Given the description of an element on the screen output the (x, y) to click on. 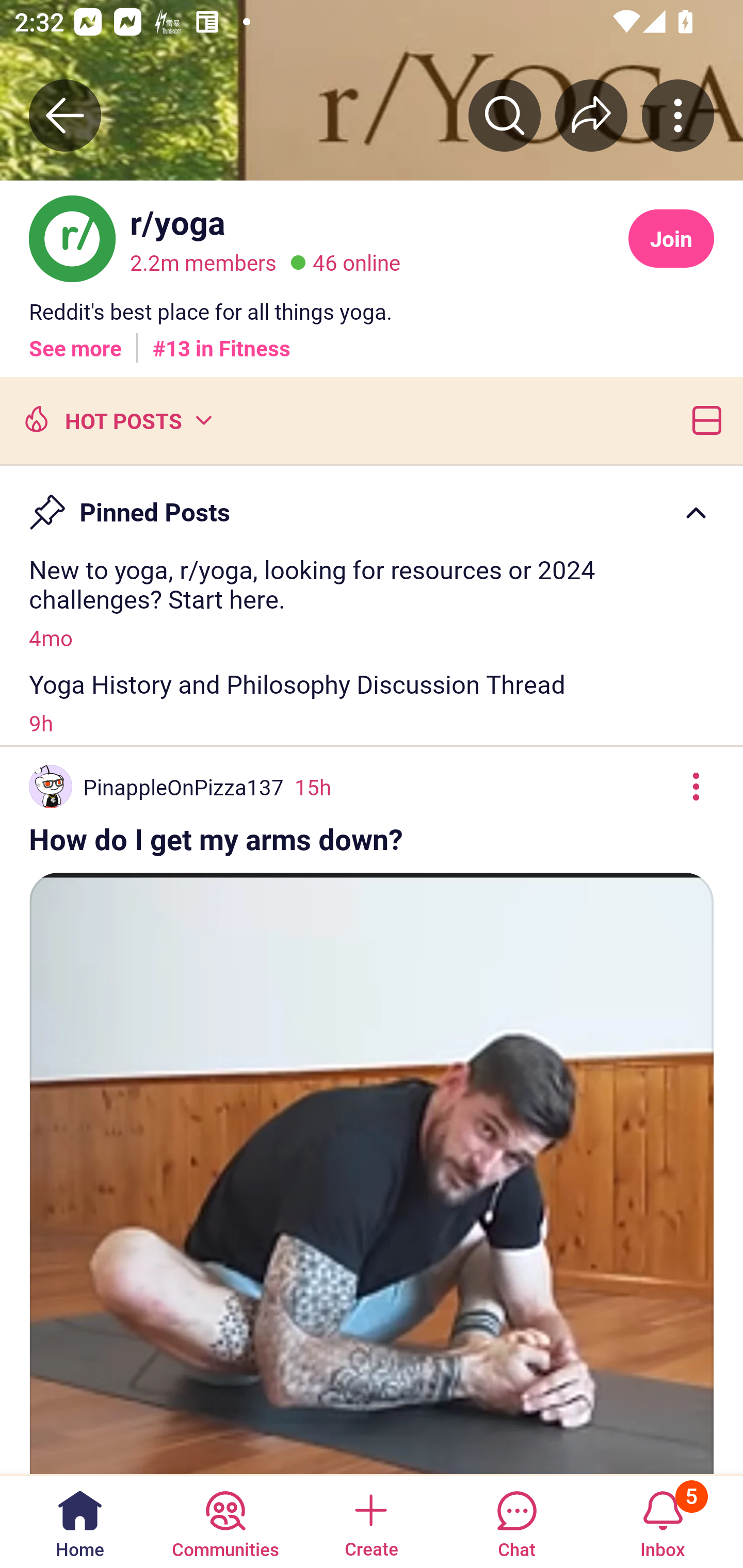
Back (64, 115)
Search r/﻿yoga (504, 115)
Share r/﻿yoga (591, 115)
More community actions (677, 115)
Hot posts HOT POSTS (116, 419)
Card (703, 419)
Pin Pinned Posts Caret (371, 503)
Yoga History and Philosophy Discussion Thread 9h (371, 702)
Home (80, 1520)
Communities (225, 1520)
Create a post Create (370, 1520)
Chat (516, 1520)
Inbox, has 5 notifications 5 Inbox (662, 1520)
